Given the description of an element on the screen output the (x, y) to click on. 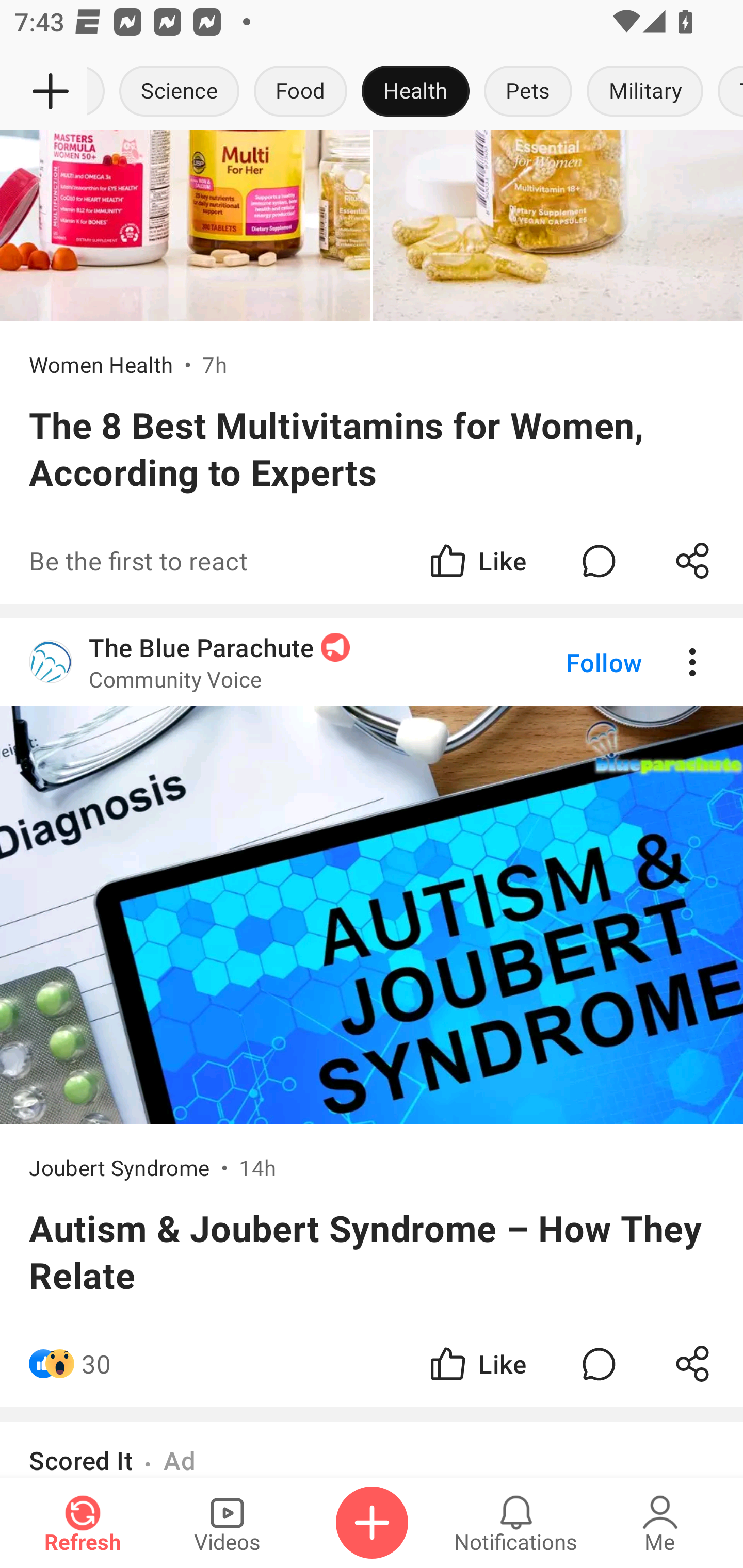
Science (179, 91)
Food (300, 91)
Health (415, 91)
Pets (528, 91)
Military (644, 91)
Be the first to react (244, 560)
Like (476, 560)
The Blue Parachute Community Voice Follow (371, 661)
Follow (569, 661)
30 (95, 1363)
Like (476, 1363)
Scored It (80, 1459)
Videos (227, 1522)
Notifications (516, 1522)
Me (659, 1522)
